Given the description of an element on the screen output the (x, y) to click on. 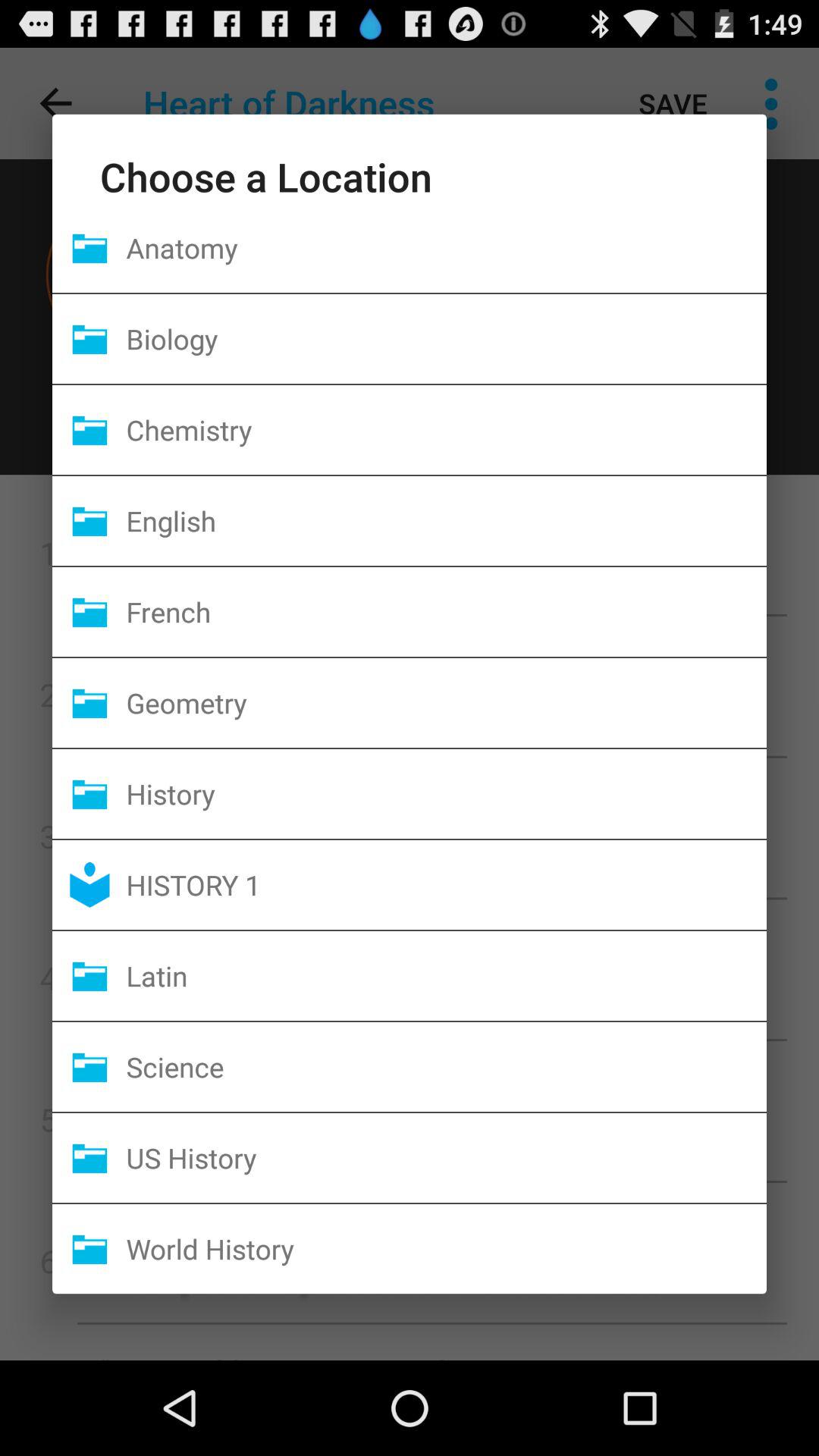
launch geometry (446, 702)
